Given the description of an element on the screen output the (x, y) to click on. 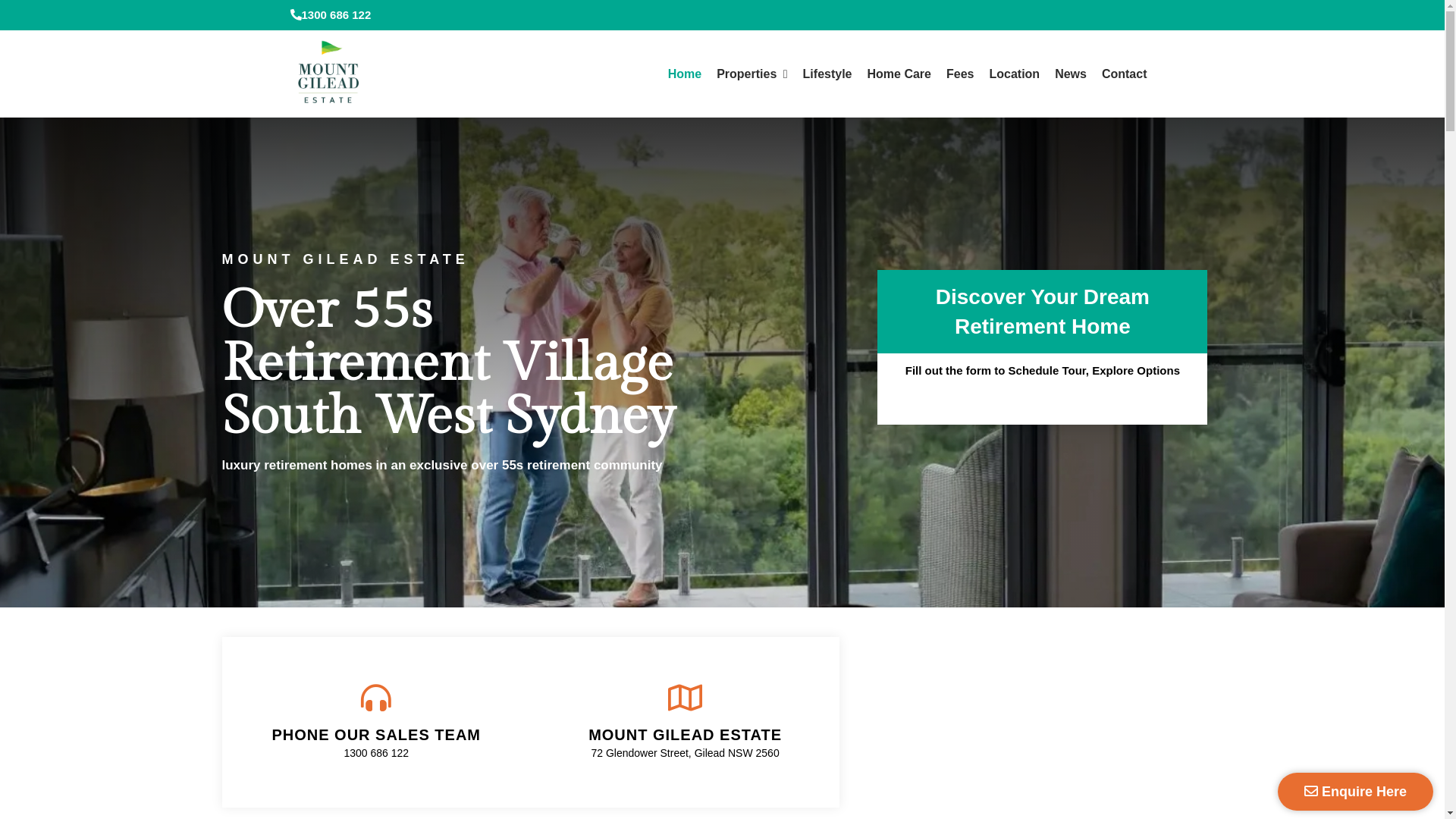
Location Element type: text (1014, 73)
News Element type: text (1070, 73)
Lifestyle Element type: text (827, 73)
Contact Element type: text (1124, 73)
Properties Element type: text (751, 73)
1300 686 122 Element type: text (375, 752)
Enquire Here Element type: text (1355, 791)
PHONE OUR SALES TEAM Element type: text (375, 734)
Fees Element type: text (959, 73)
Home Element type: text (684, 73)
1300 686 122 Element type: text (329, 14)
Home Care Element type: text (898, 73)
